Given the description of an element on the screen output the (x, y) to click on. 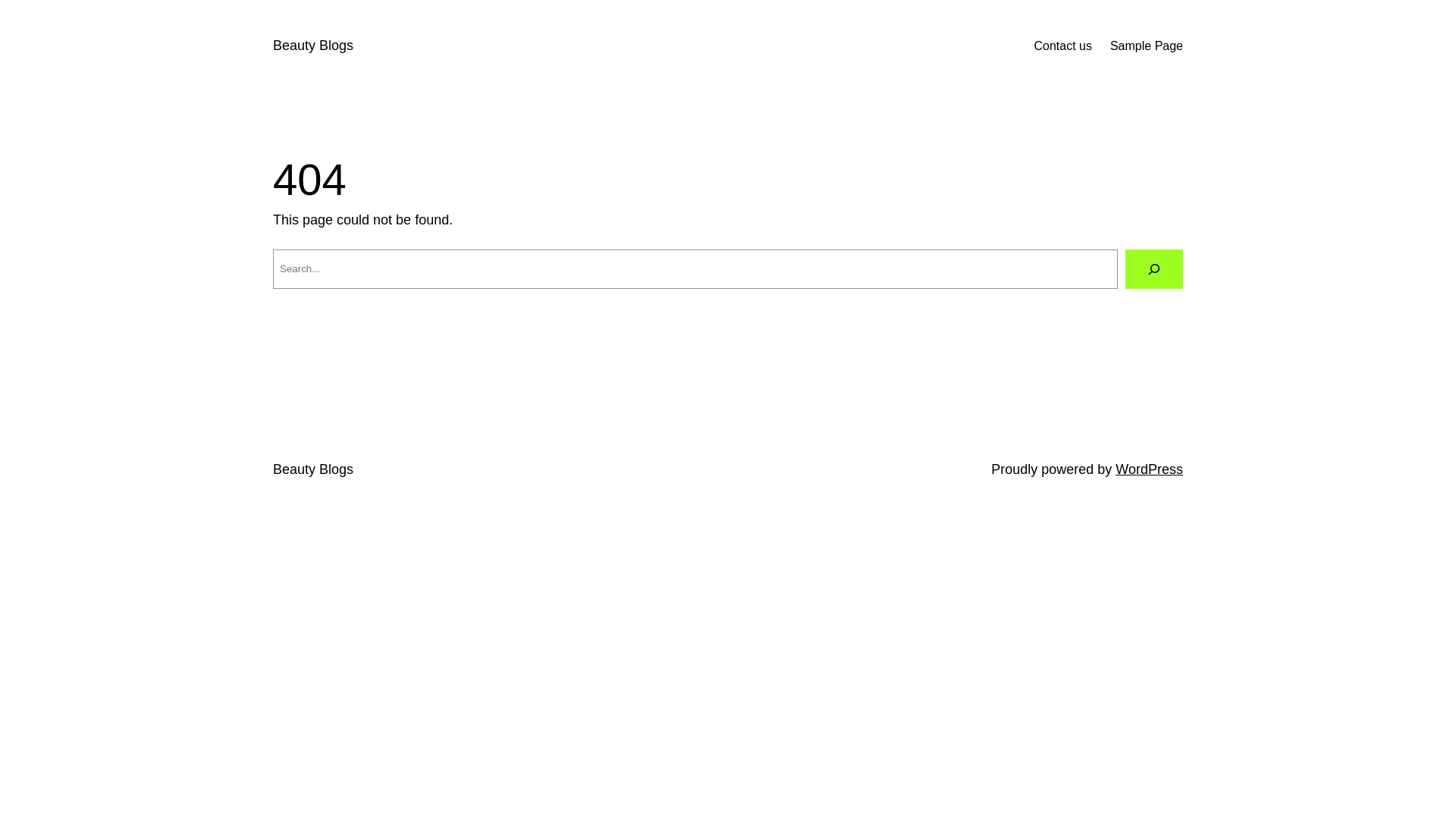
Sample Page Element type: text (1146, 46)
WordPress Element type: text (1149, 468)
Contact us Element type: text (1062, 46)
Beauty Blogs Element type: text (313, 468)
Beauty Blogs Element type: text (313, 45)
